Given the description of an element on the screen output the (x, y) to click on. 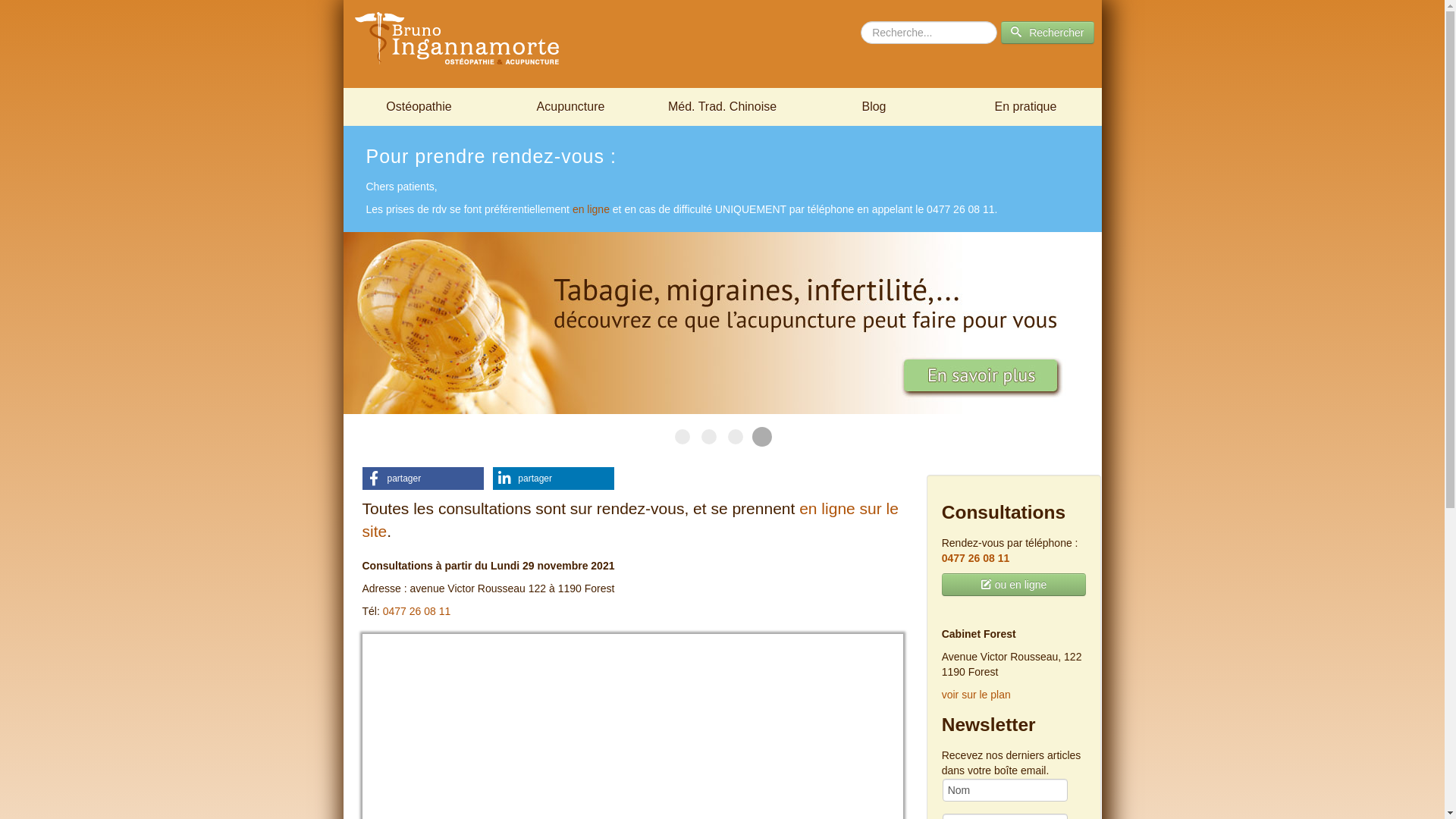
0477 26 08 11 Element type: text (416, 611)
03 Lumbago Sciatique Douleur Cervicale Osteopathie Element type: text (708, 436)
En pratique Element type: text (1025, 106)
Nom Element type: hover (1004, 789)
en ligne sur le site Element type: text (630, 519)
partager Element type: text (553, 478)
0477 26 08 11 Element type: text (975, 558)
04 Fatigue Allergie Hypertension Medecine Chinoise Element type: text (682, 436)
voir sur le plan Element type: text (975, 694)
ou en ligne Element type: text (1013, 584)
en ligne Element type: text (590, 209)
Rechercher Element type: text (1047, 32)
02 Tabagie Migraine Infertilite Acupuncture Element type: text (759, 434)
partager Element type: text (422, 478)
Acupuncture Element type: text (570, 106)
Blog Element type: text (873, 106)
06 Rendez Vous En Ligne Element type: text (735, 436)
